Given the description of an element on the screen output the (x, y) to click on. 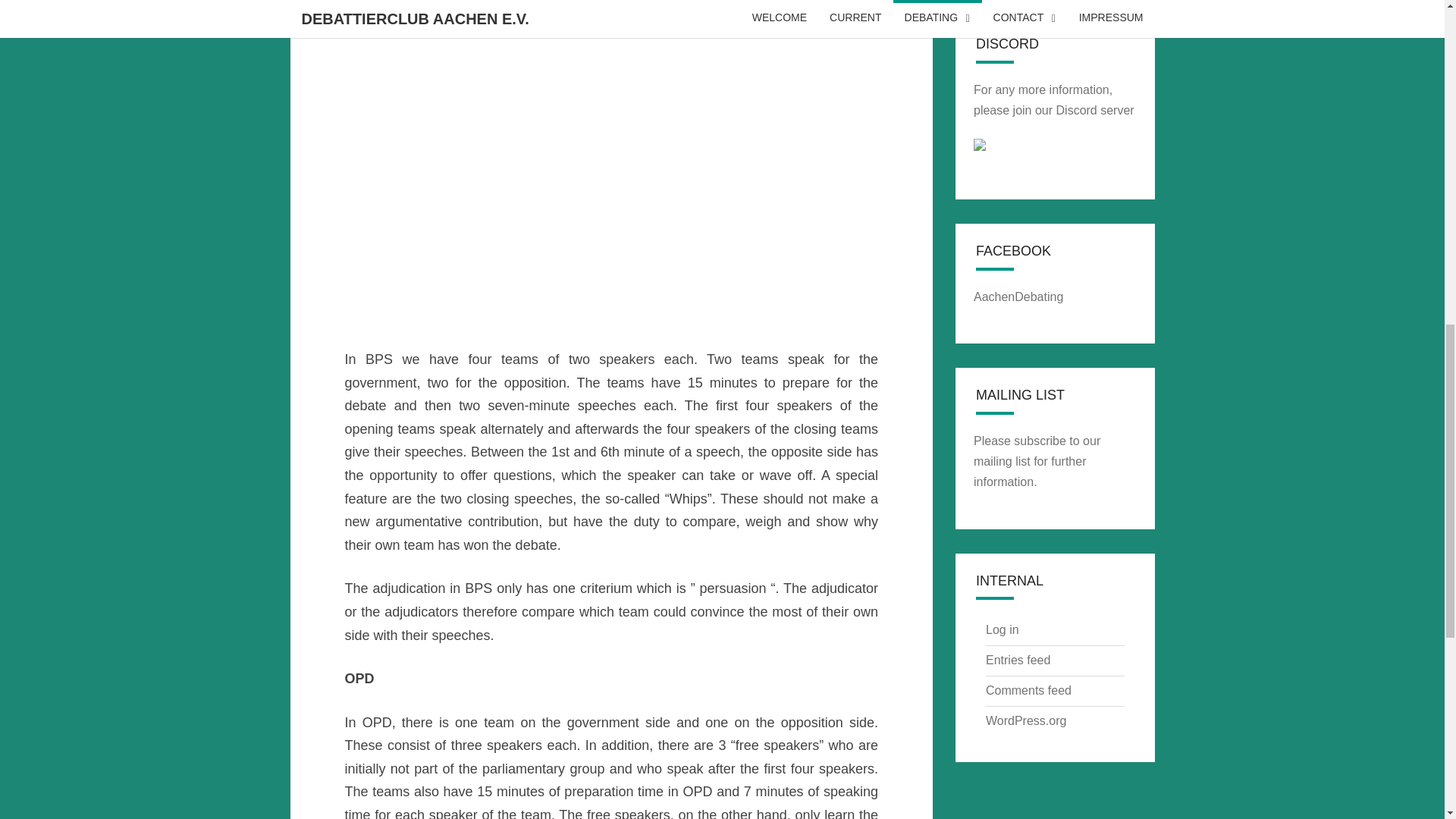
Log in (1002, 629)
Comments feed (1028, 689)
Entries feed (1017, 659)
AachenDebating  (1020, 296)
WordPress.org (1025, 720)
mailing list (1002, 461)
